Given the description of an element on the screen output the (x, y) to click on. 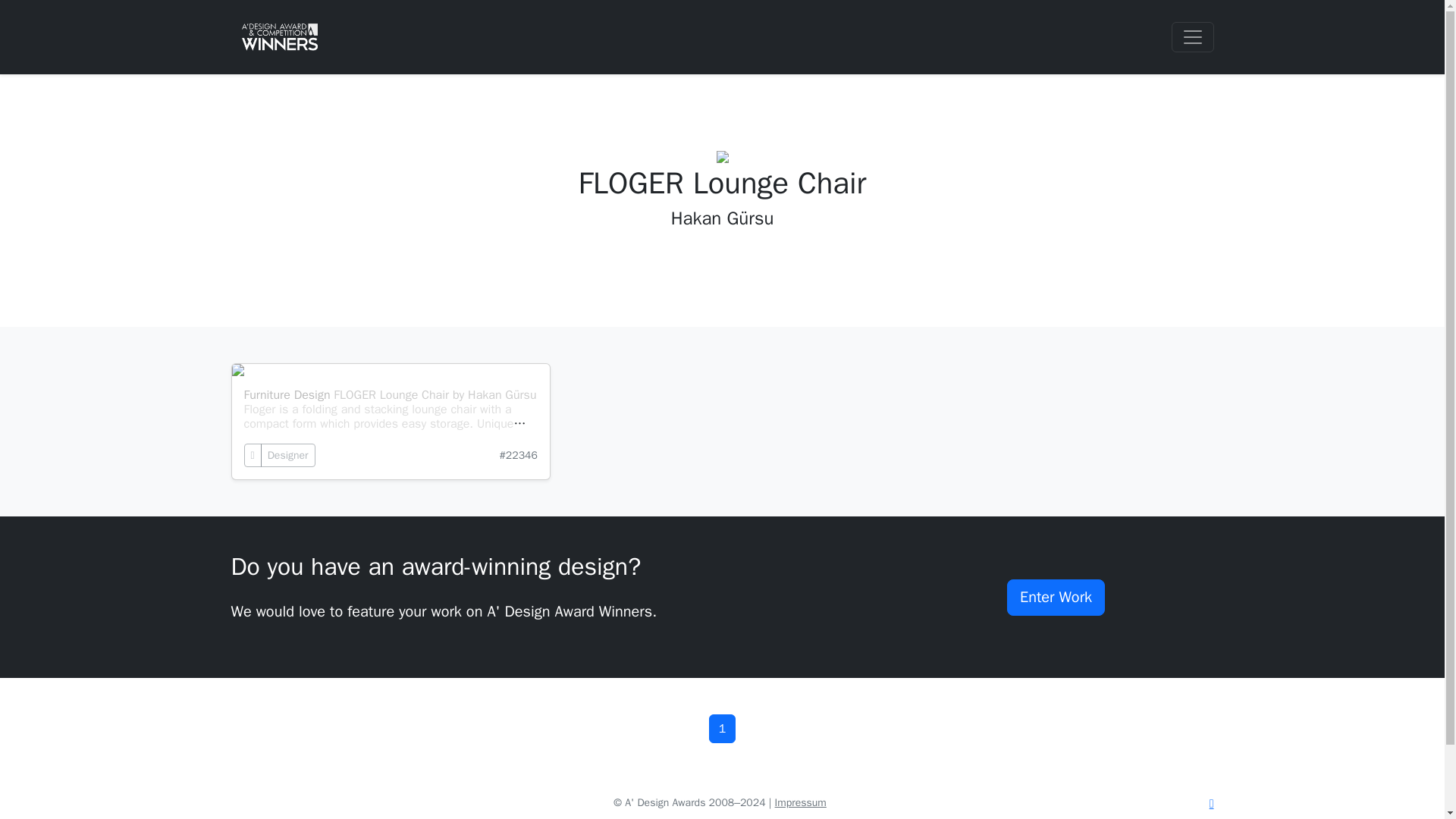
Impressum (800, 802)
Enter Work (1056, 597)
1 (722, 728)
Designer (287, 454)
